Given the description of an element on the screen output the (x, y) to click on. 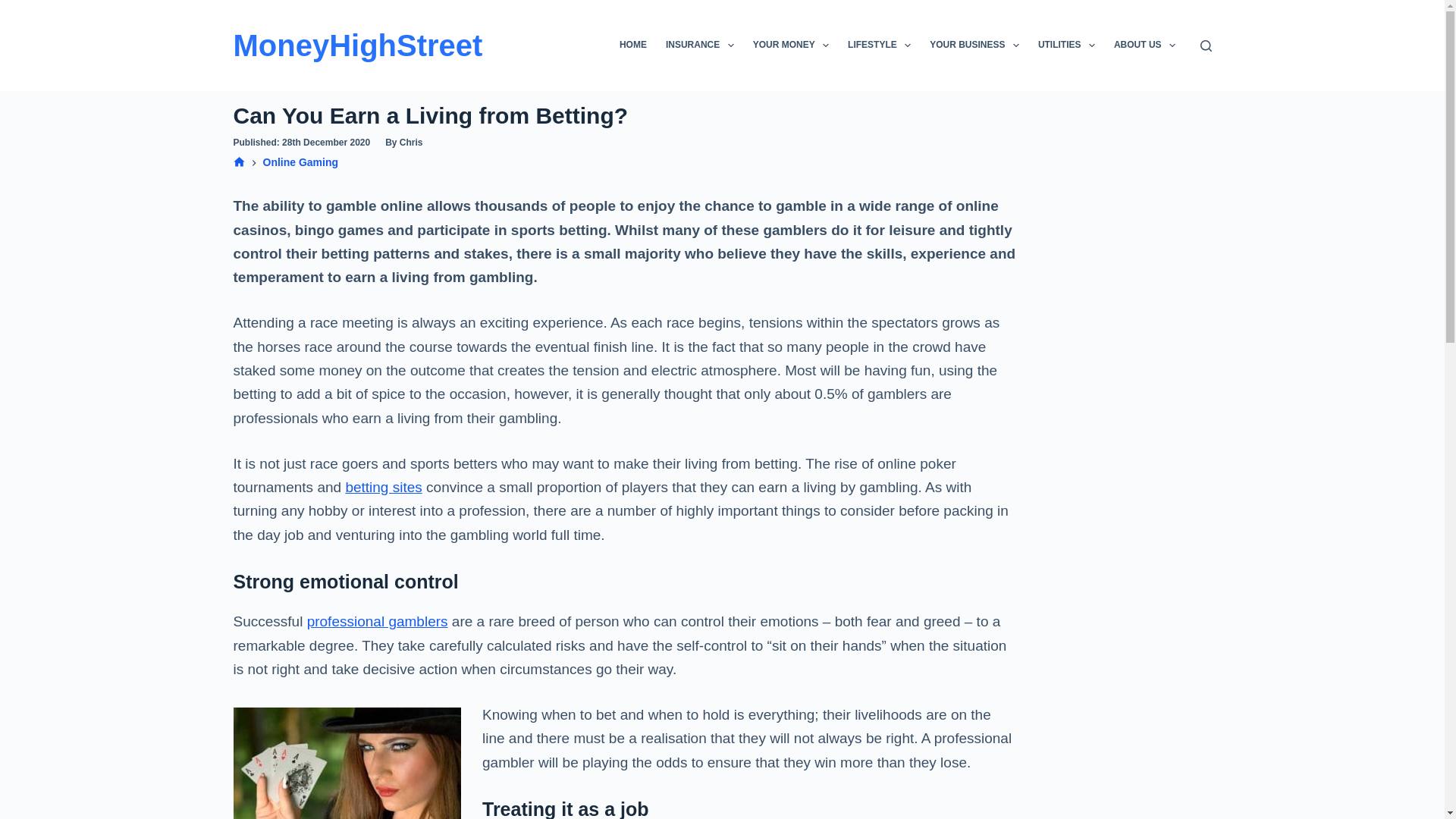
Can You Earn a Living from Betting? (624, 115)
Skip to content (15, 7)
Posts by Chris (410, 142)
